Given the description of an element on the screen output the (x, y) to click on. 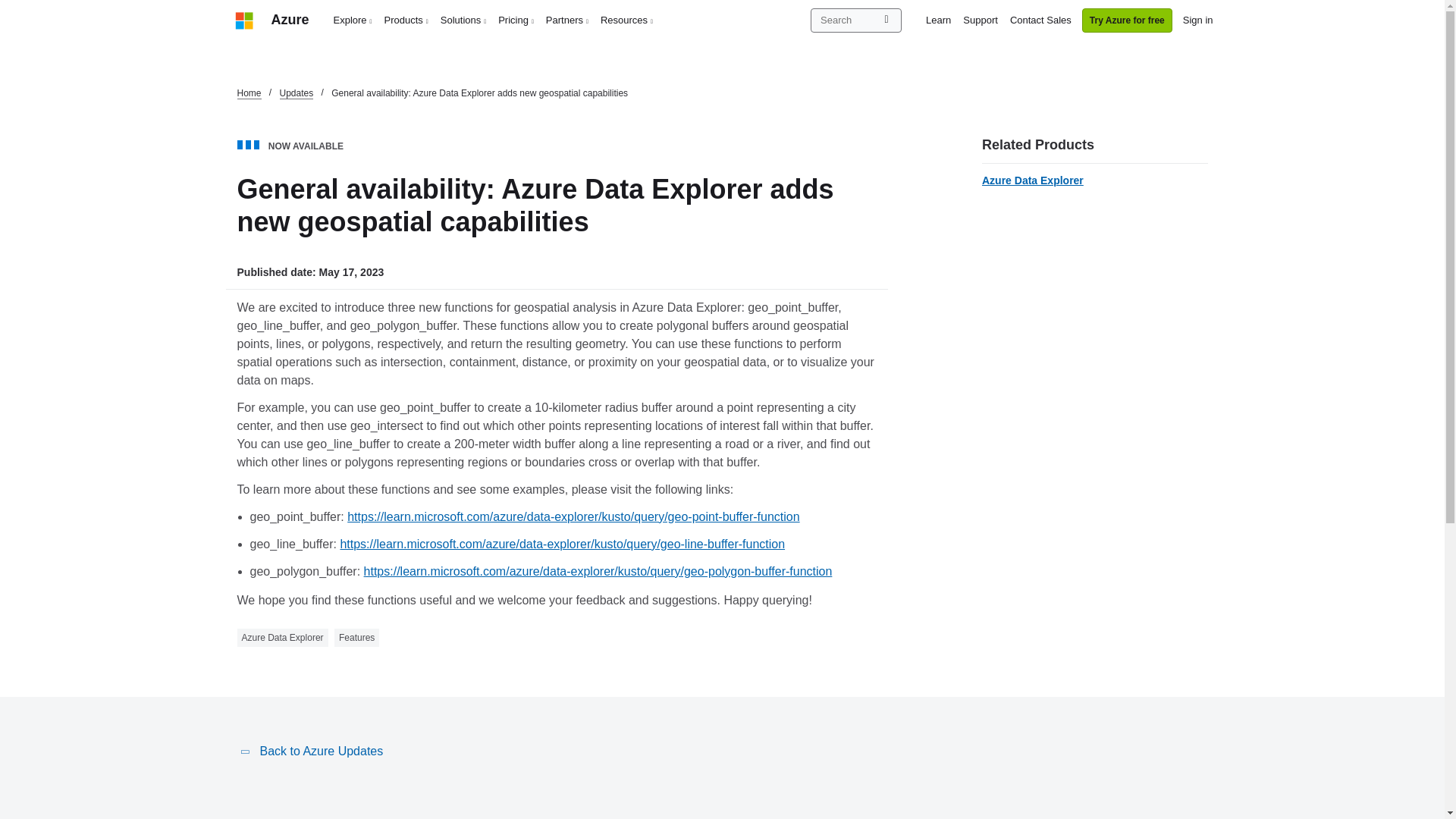
Products (405, 20)
Azure (289, 19)
Explore (352, 20)
Skip to main content (7, 7)
